Given the description of an element on the screen output the (x, y) to click on. 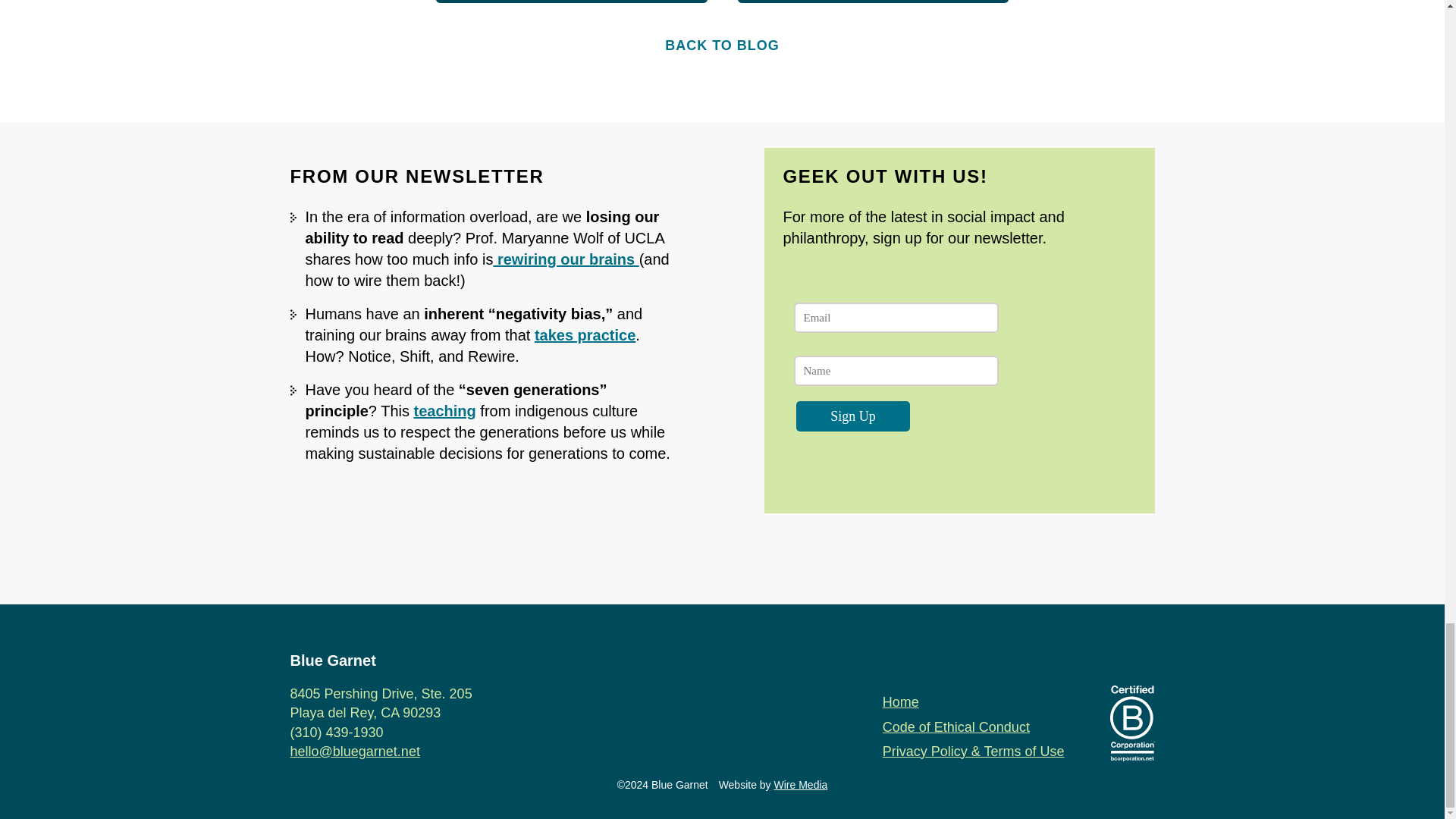
LinkedIn (721, 558)
BACK TO BLOG (721, 45)
Twitter (776, 558)
Sign Up (853, 416)
rewiring our brains (566, 258)
Home (900, 702)
takes practice (584, 334)
Email Blue Garnet (667, 558)
teaching (444, 410)
